Given the description of an element on the screen output the (x, y) to click on. 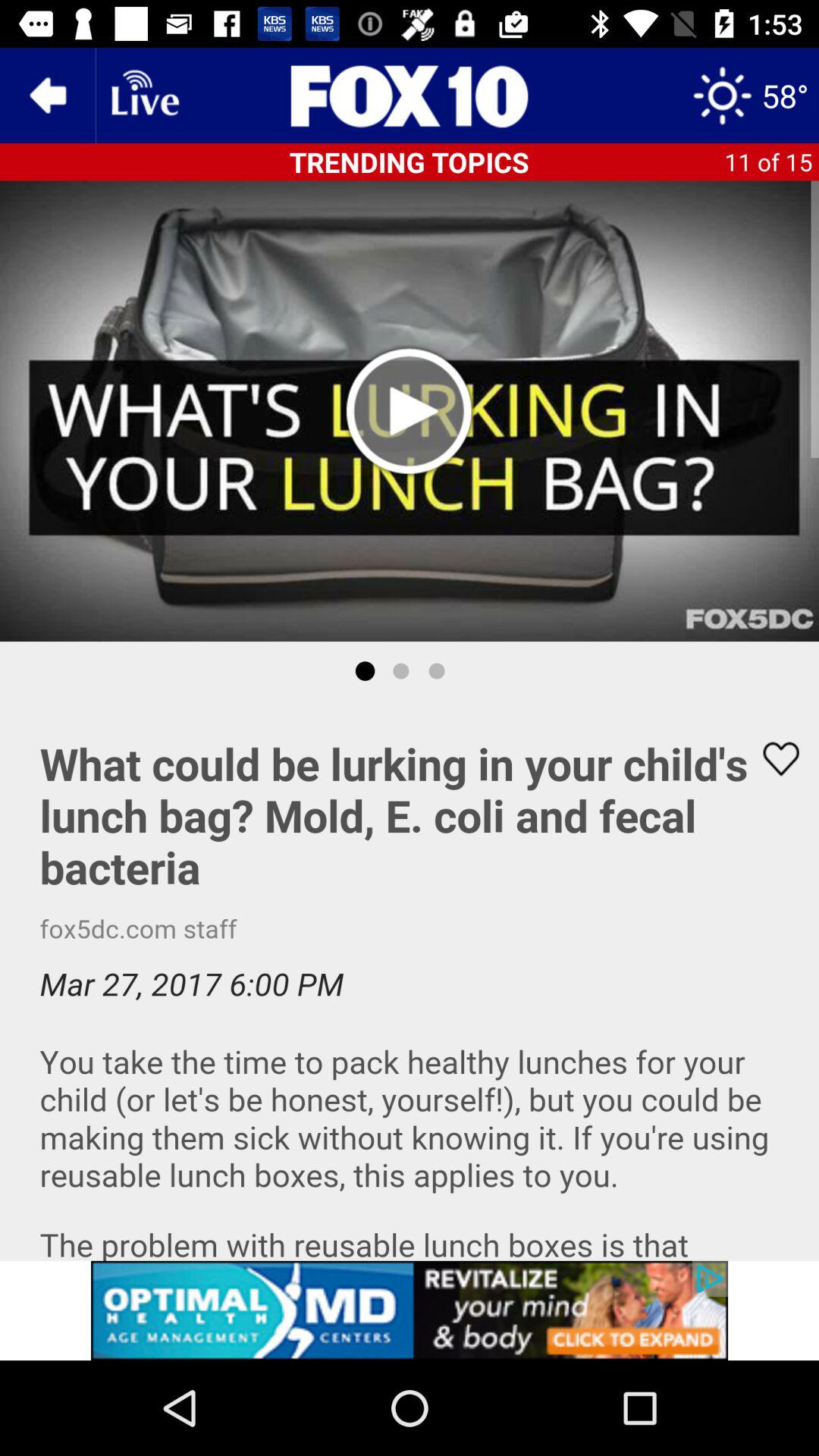
go back (47, 95)
